Given the description of an element on the screen output the (x, y) to click on. 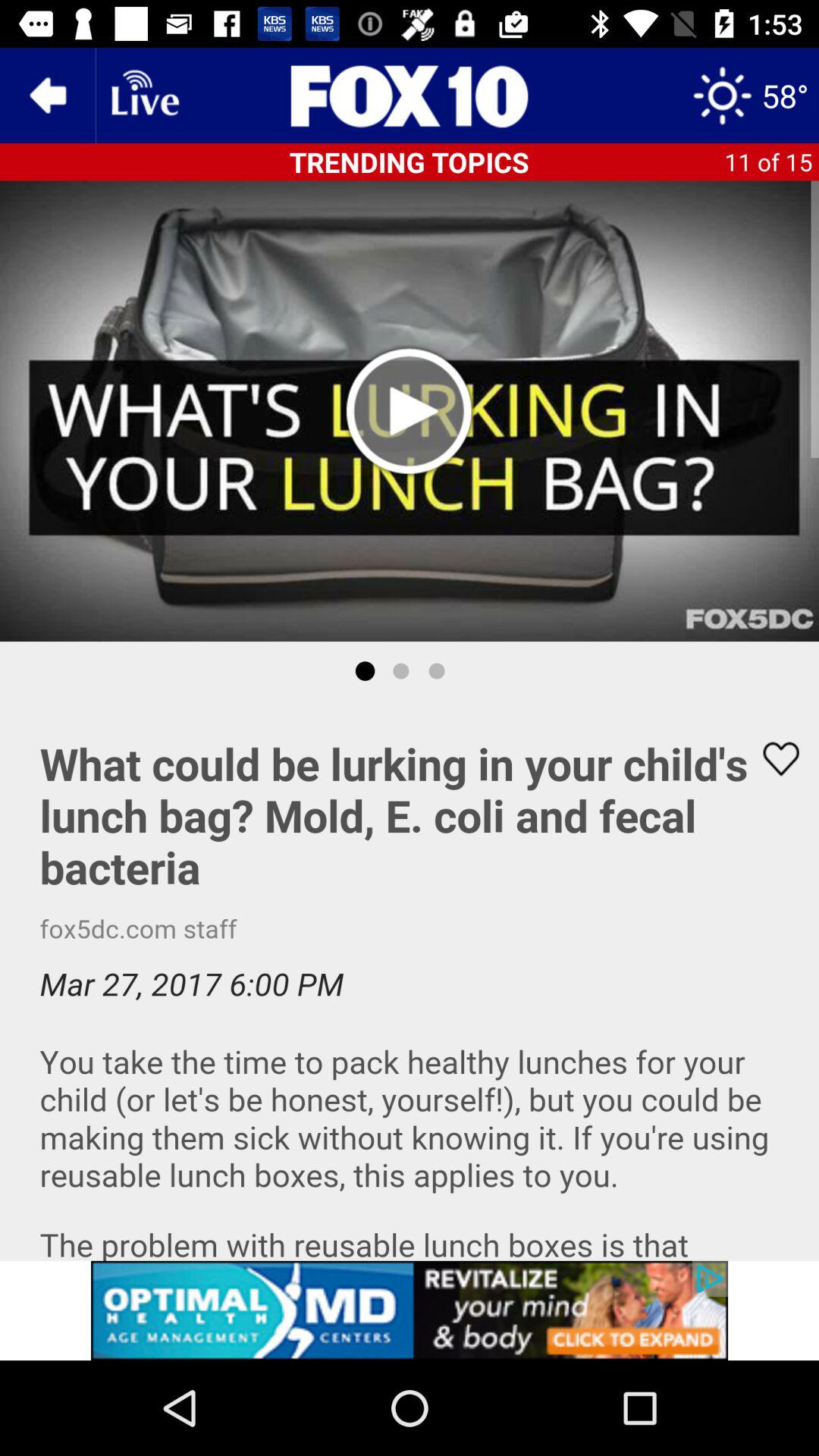
go back (47, 95)
